Given the description of an element on the screen output the (x, y) to click on. 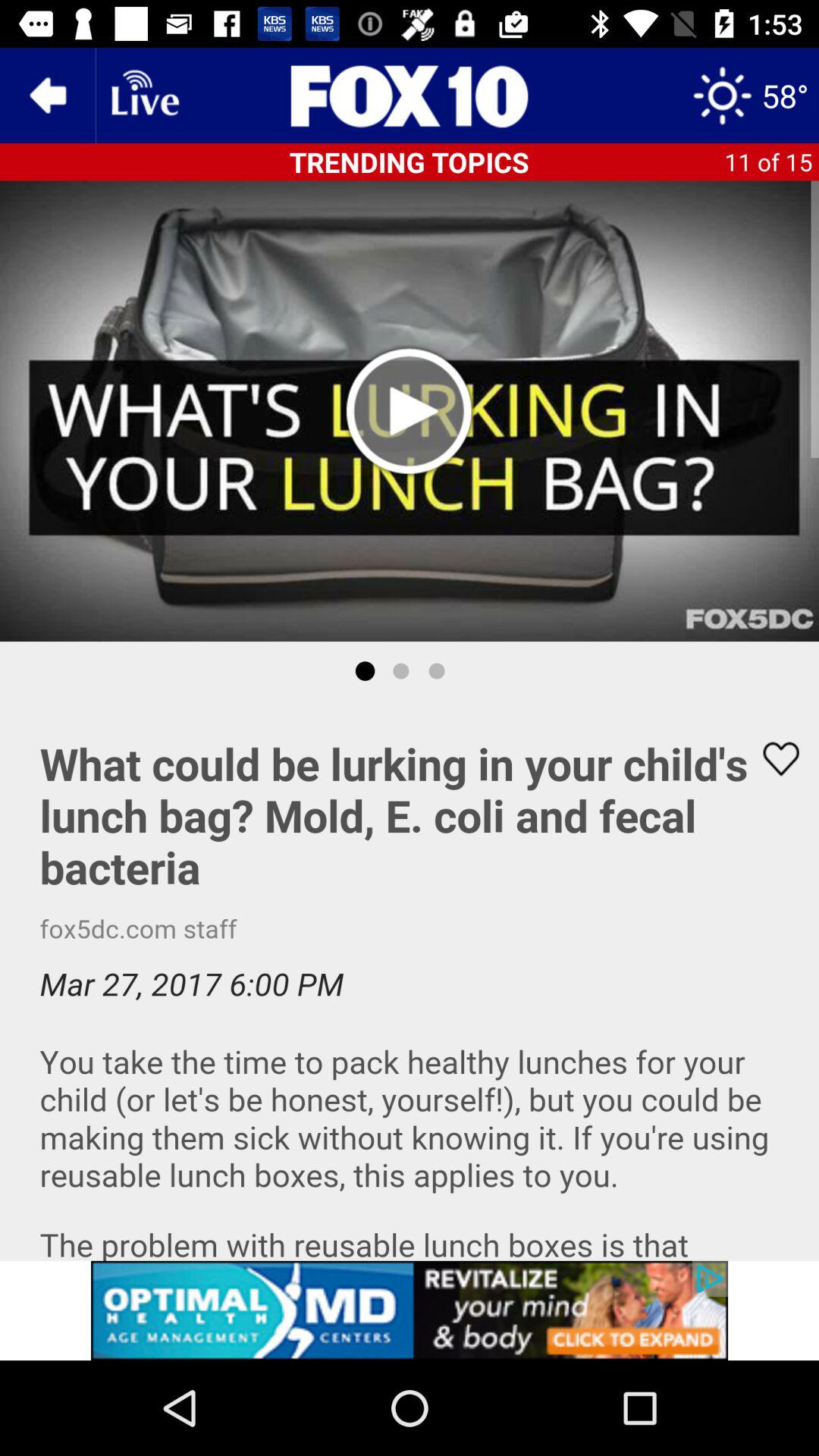
go back (47, 95)
